Given the description of an element on the screen output the (x, y) to click on. 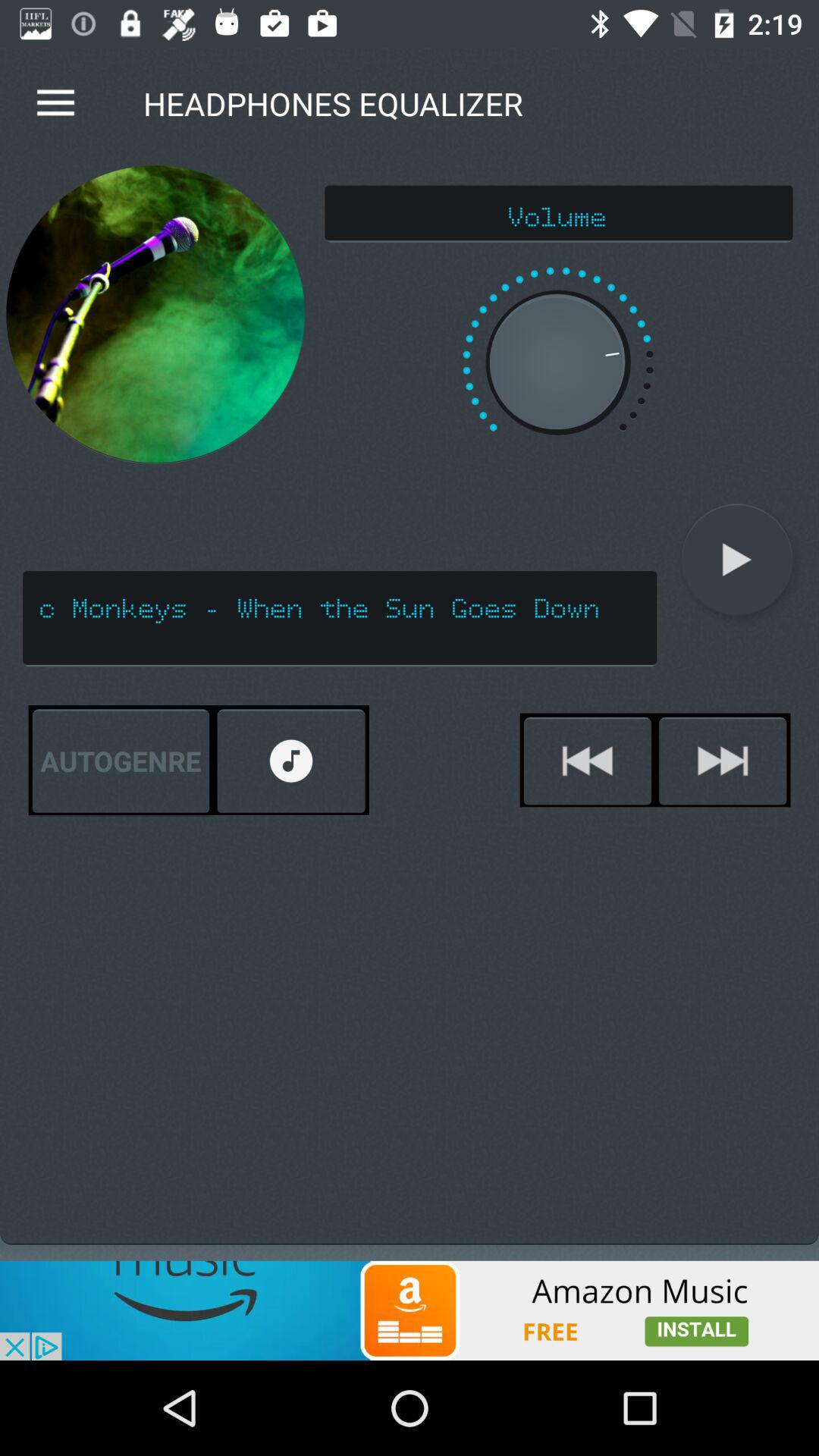
choose the autogenre icon (120, 760)
